Given the description of an element on the screen output the (x, y) to click on. 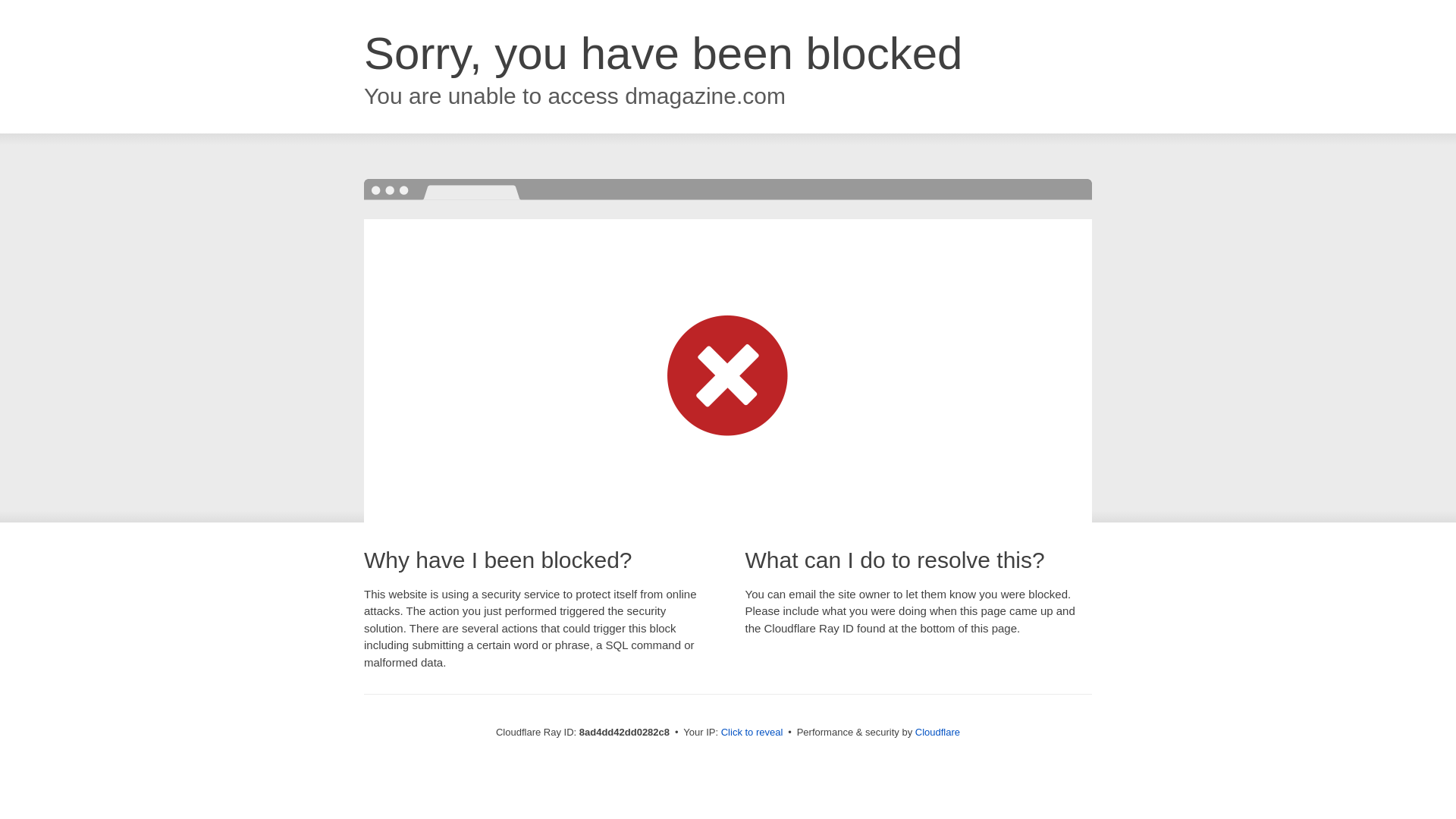
Click to reveal (751, 732)
Cloudflare (937, 731)
